Given the description of an element on the screen output the (x, y) to click on. 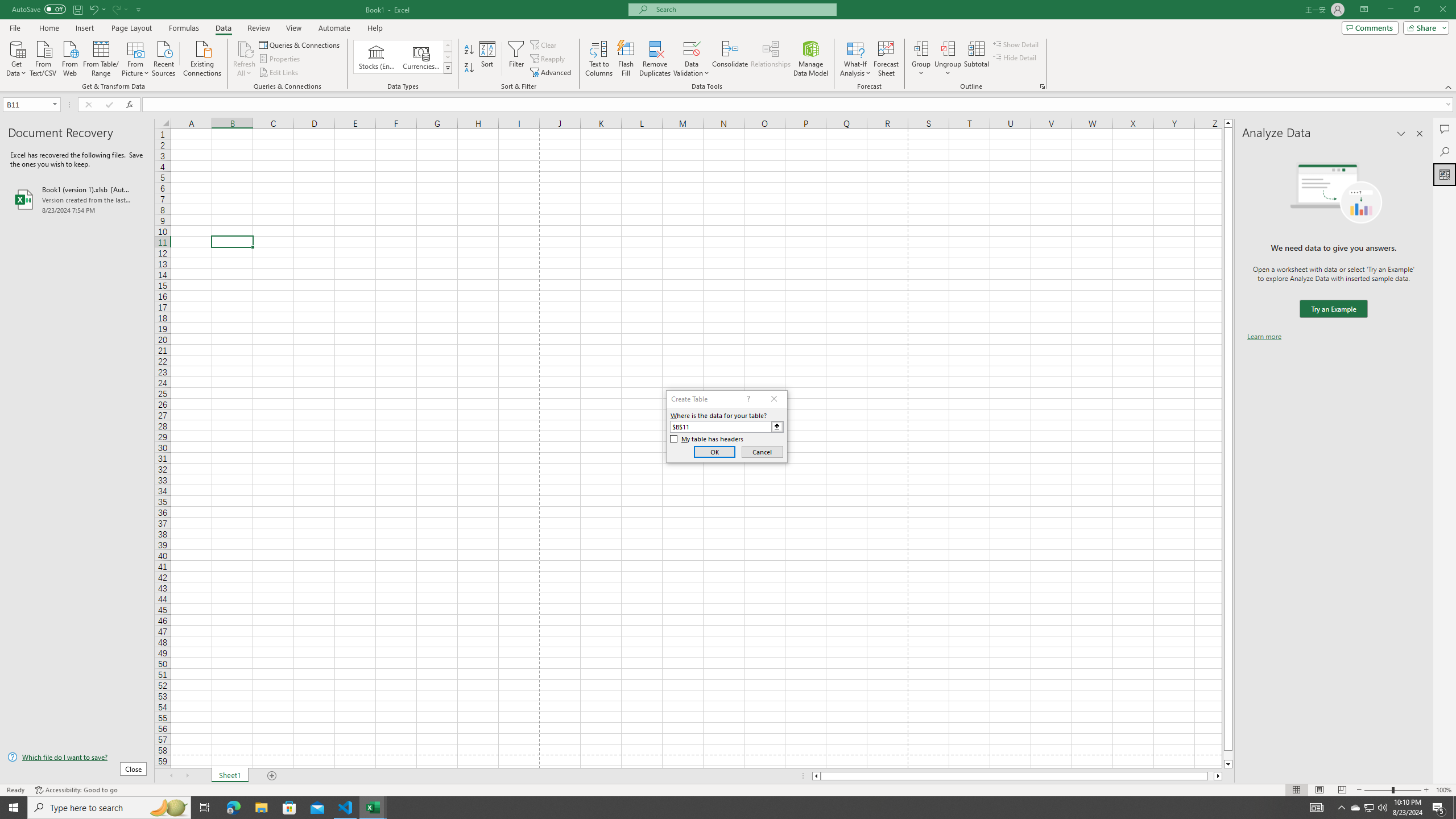
Normal (1296, 790)
Review (258, 28)
Line up (1228, 122)
Clear (544, 44)
Data Validation... (691, 48)
Insert (83, 28)
File Tab (15, 27)
Task Pane Options (1400, 133)
Ungroup... (947, 58)
Recent Sources (163, 57)
